Given the description of an element on the screen output the (x, y) to click on. 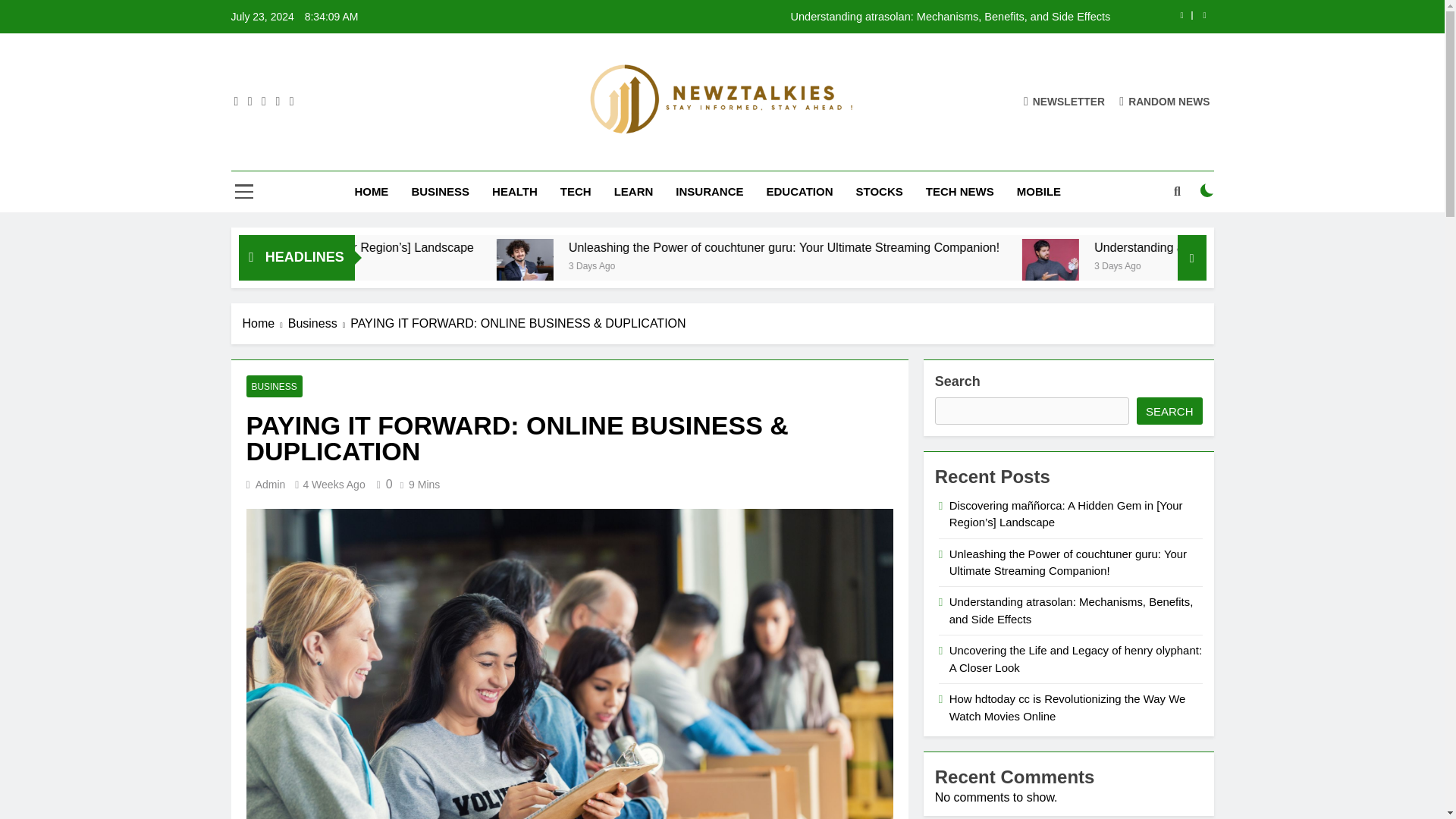
on (1206, 190)
LEARN (633, 191)
STOCKS (879, 191)
MOBILE (1038, 191)
BUSINESS (439, 191)
TECH NEWS (960, 191)
INSURANCE (708, 191)
NEWSLETTER (1064, 101)
Newztalkies.Com (606, 157)
HEALTH (514, 191)
EDUCATION (799, 191)
RANDOM NEWS (1164, 101)
